Given the description of an element on the screen output the (x, y) to click on. 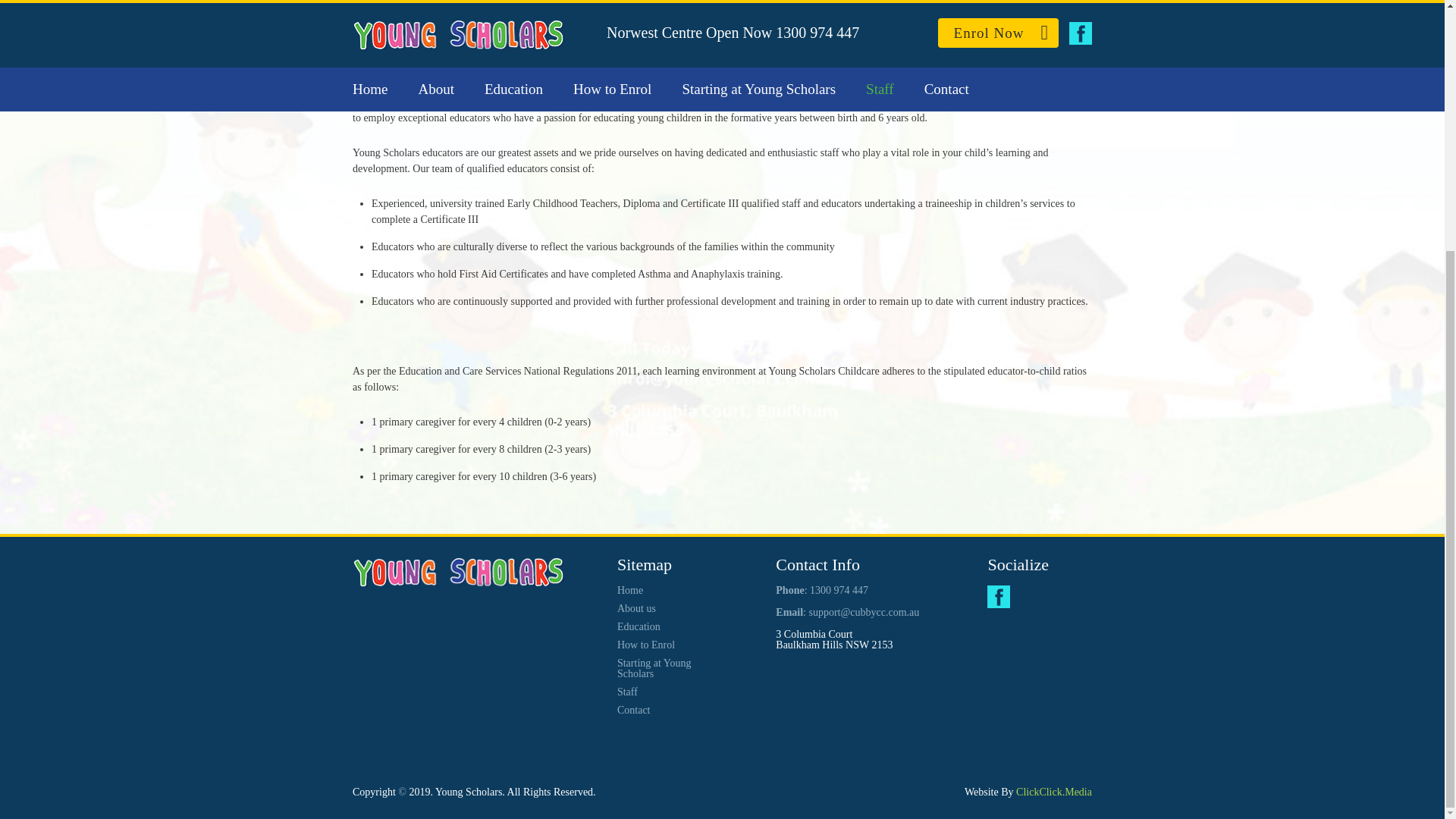
Contact (633, 709)
Starting at Young Scholars (654, 668)
Home (630, 590)
About us (636, 608)
ClickClick.Media (1054, 791)
Staff (627, 691)
: 1300 974 447 (836, 590)
Education (639, 626)
How to Enrol (646, 644)
